Given the description of an element on the screen output the (x, y) to click on. 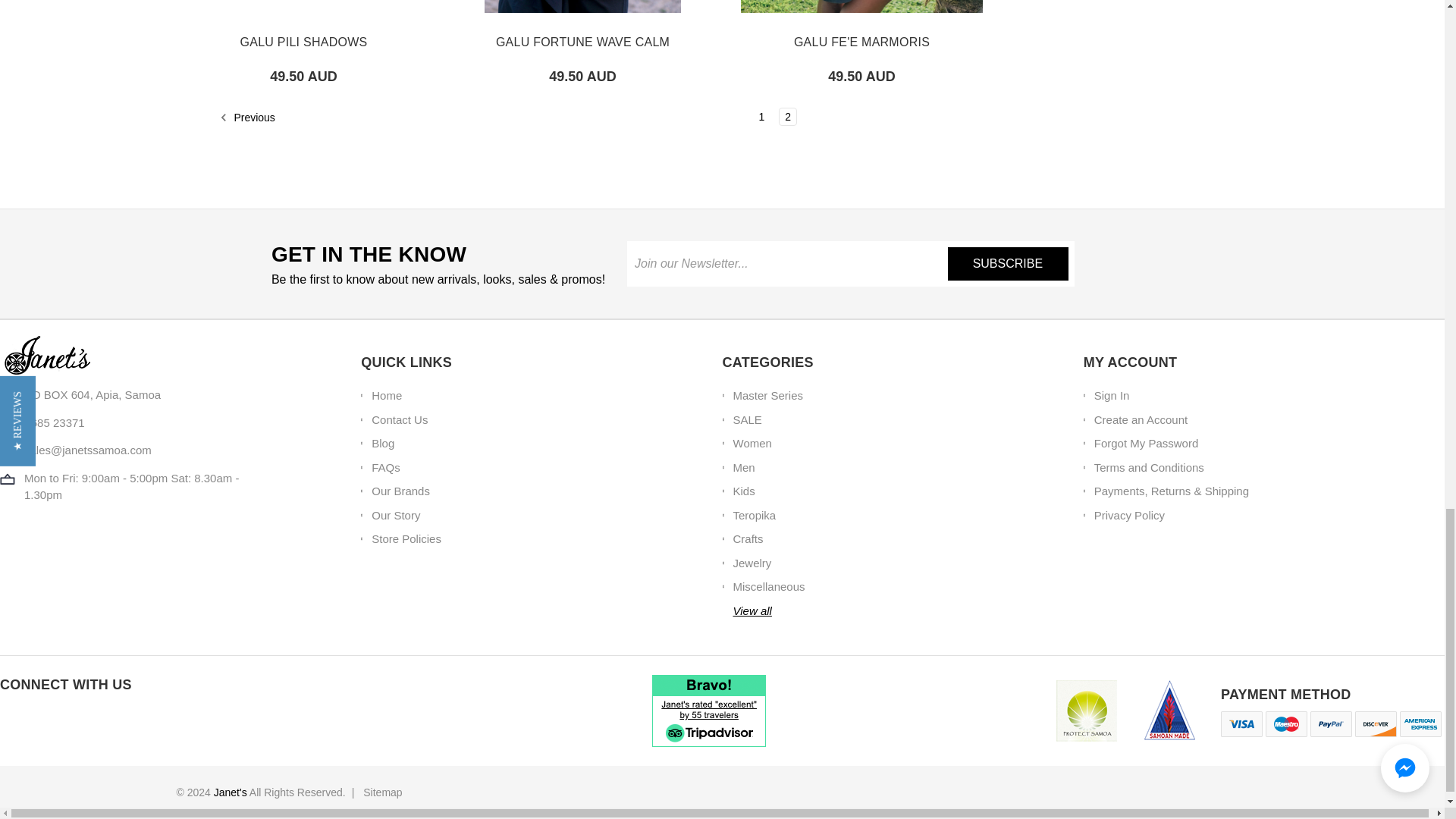
GALU FE'E MARMORIS (860, 6)
GALU FORTUNE WAVE CALM (582, 6)
Subscribe (1007, 263)
